Given the description of an element on the screen output the (x, y) to click on. 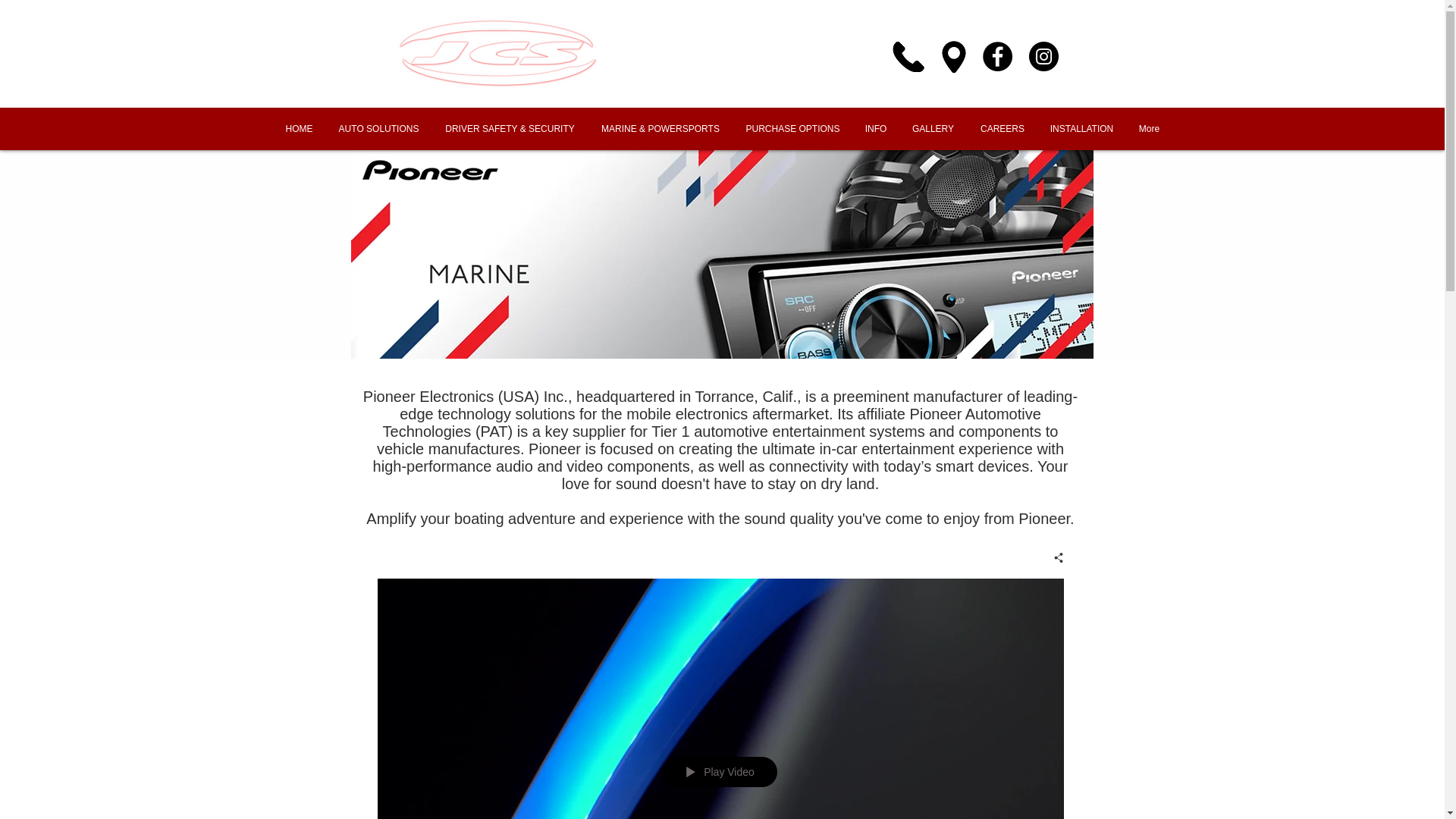
Play Video (720, 771)
GALLERY (933, 128)
PURCHASE OPTIONS (791, 128)
AUTO SOLUTIONS (379, 128)
CAREERS (1003, 128)
HOME (299, 128)
INFO (874, 128)
INSTALLATION (1080, 128)
